Given the description of an element on the screen output the (x, y) to click on. 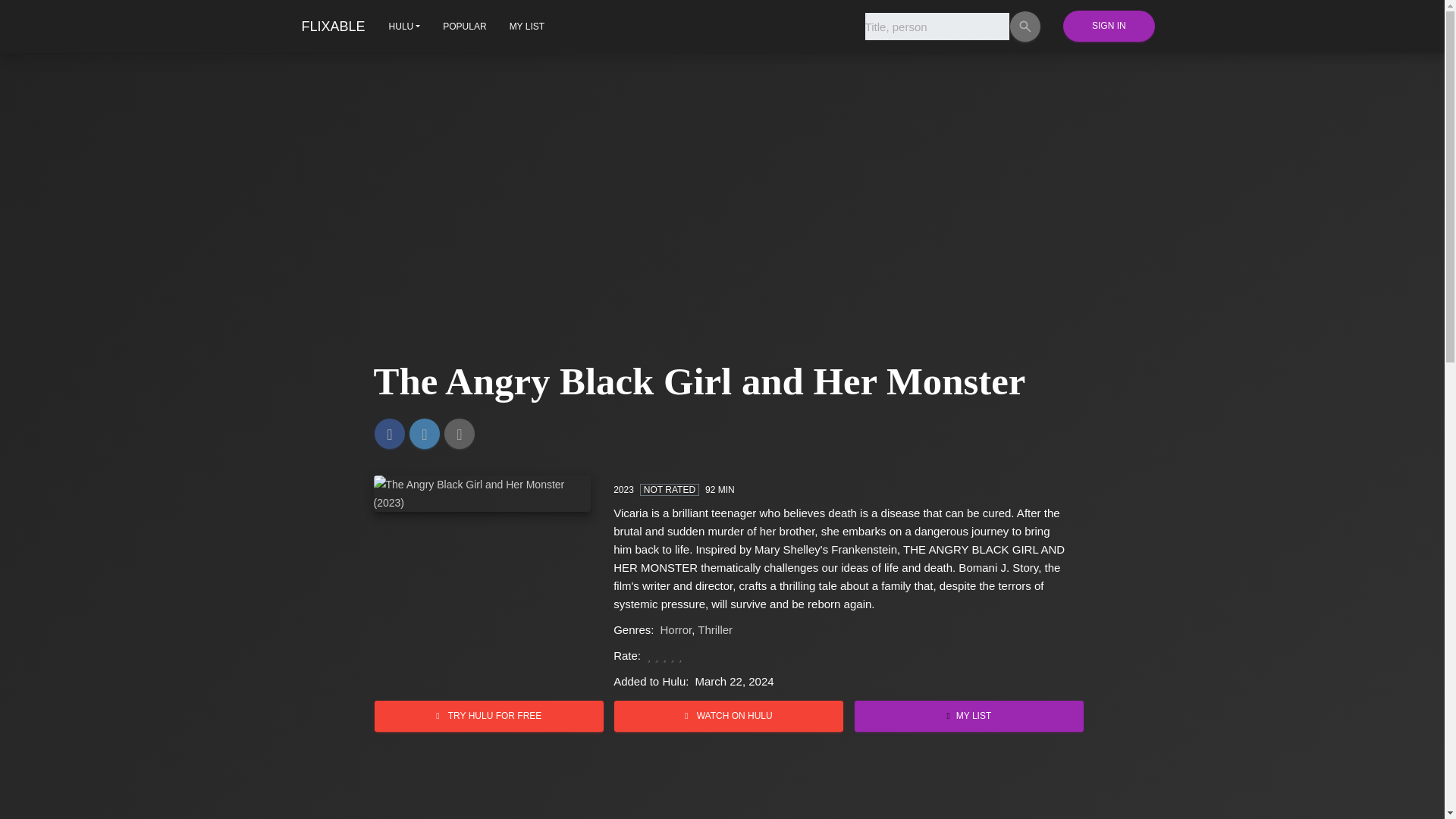
POPULAR (463, 26)
WATCH ON HULU (728, 716)
HULU (404, 26)
TRY HULU FOR FREE (489, 716)
SIGN IN (1108, 25)
FLIXABLE (333, 26)
MY LIST (968, 716)
MY LIST (526, 26)
Thriller (714, 629)
Horror (677, 629)
